Given the description of an element on the screen output the (x, y) to click on. 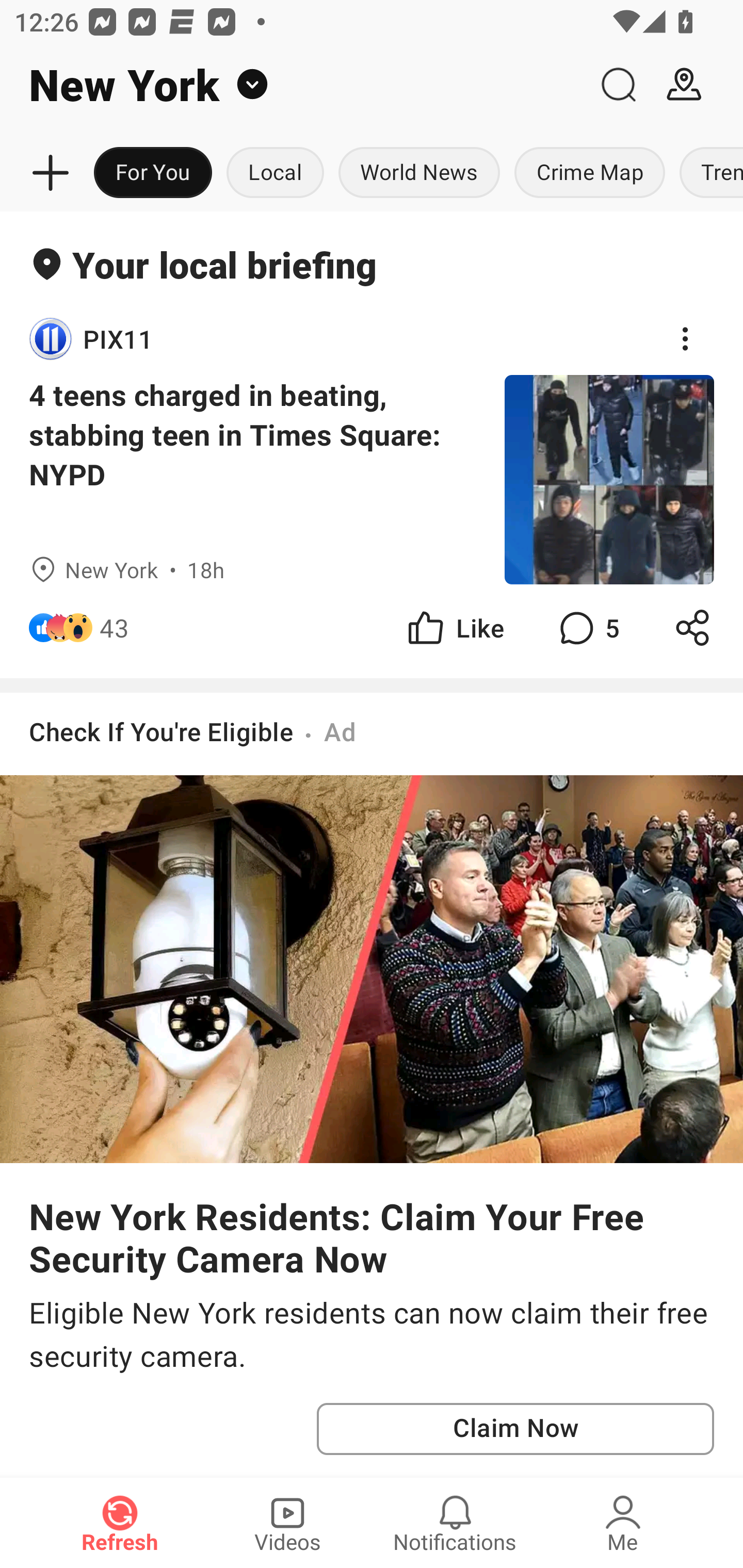
New York (292, 84)
For You (152, 172)
Local (275, 172)
World News (419, 172)
Crime Map (589, 172)
43 (114, 627)
Like (454, 627)
5 (587, 627)
Check If You're Eligible (160, 731)
Claim Now (515, 1429)
Videos (287, 1522)
Notifications (455, 1522)
Me (622, 1522)
